Given the description of an element on the screen output the (x, y) to click on. 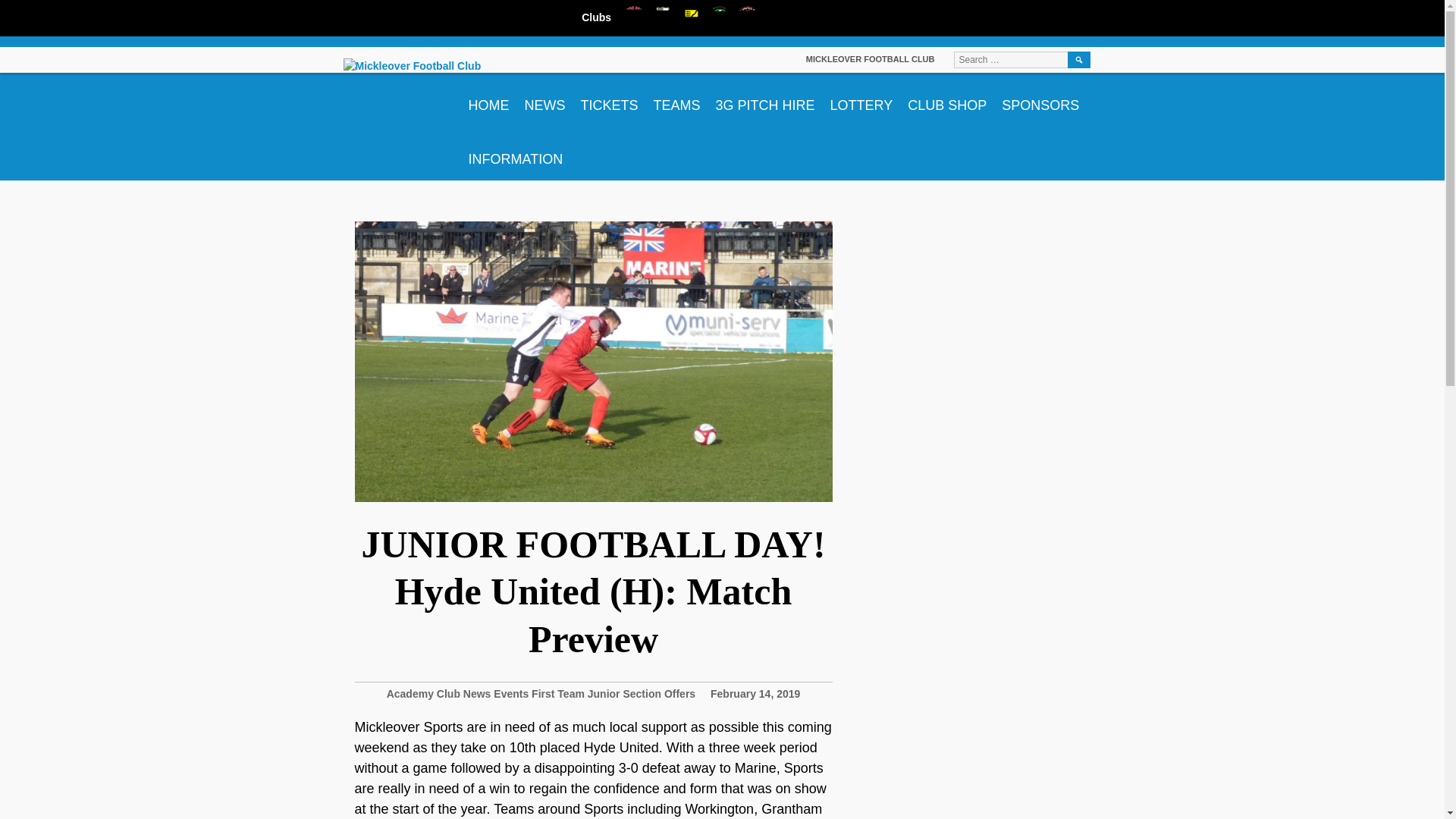
Basford United (691, 17)
TEAMS (676, 99)
FC United of Manchester (747, 17)
CLUB SHOP (946, 99)
TICKETS (609, 99)
LOTTERY (861, 99)
Ashton United (633, 17)
Bamber Bridge (663, 17)
3G PITCH HIRE (764, 99)
NEWS (544, 99)
